Given the description of an element on the screen output the (x, y) to click on. 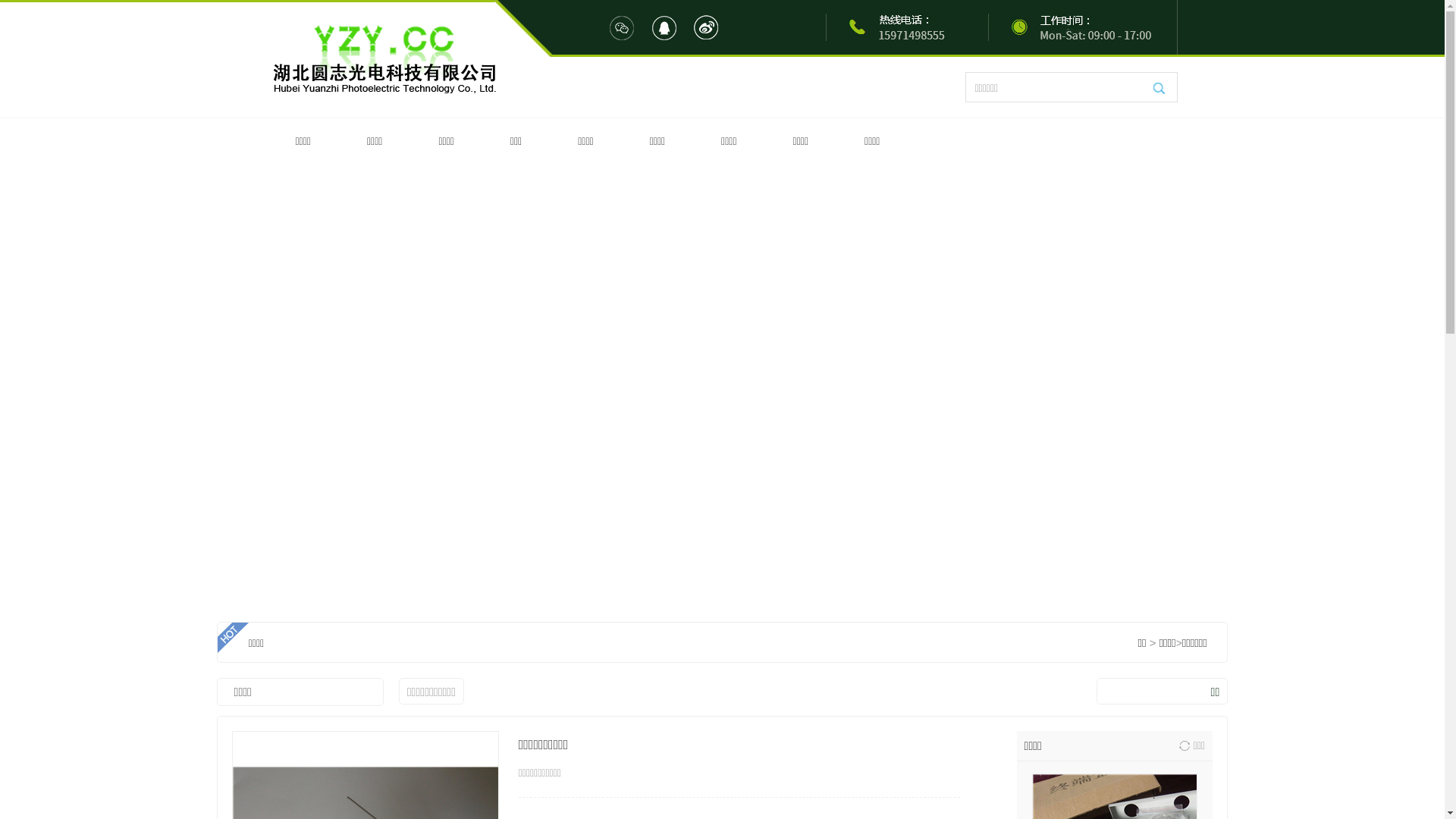
Logo Element type: hover (383, 59)
QQ Element type: hover (664, 27)
